Given the description of an element on the screen output the (x, y) to click on. 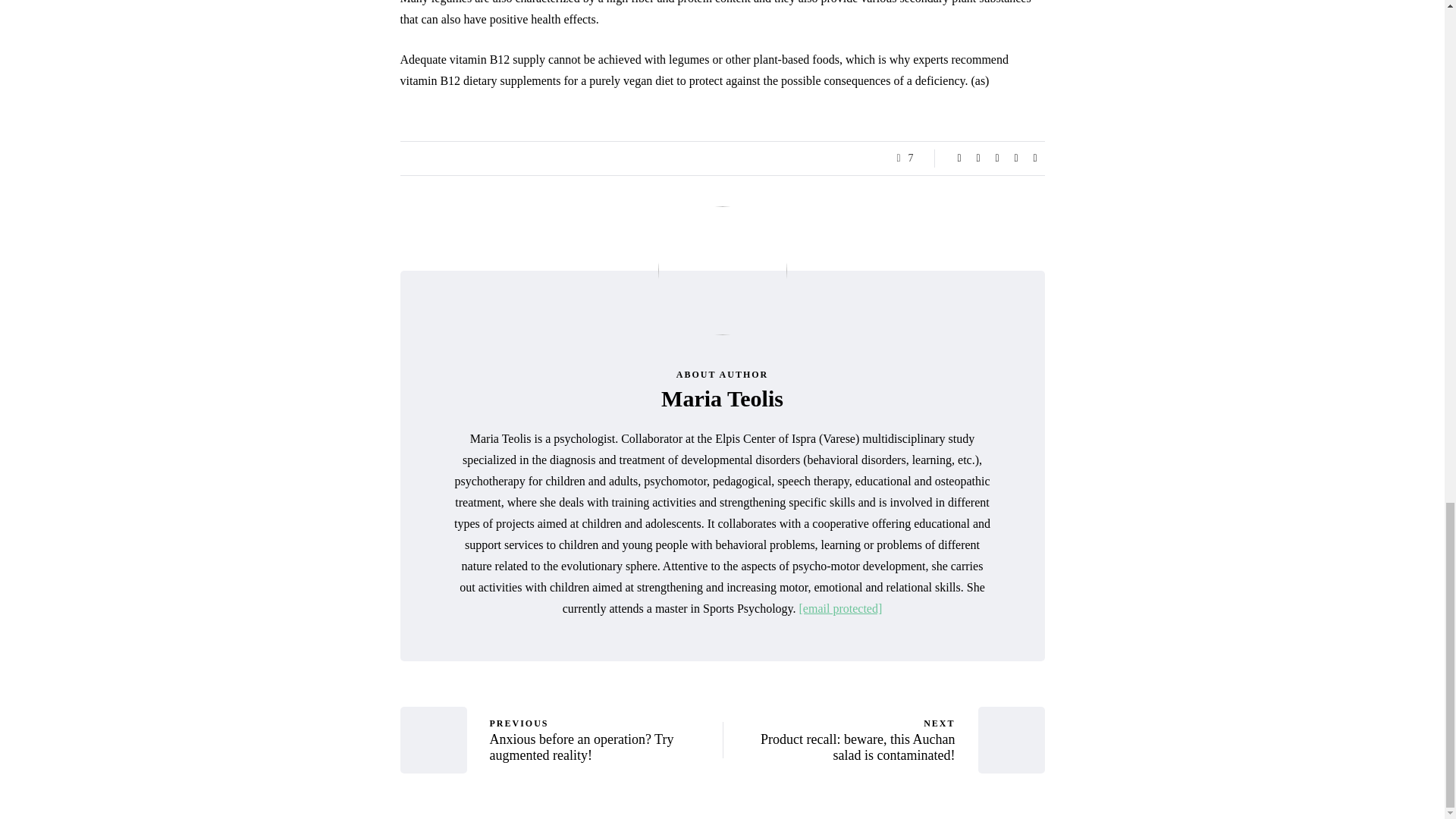
Share with LinkedIn (996, 158)
Posts by Maria Teolis (605, 739)
Share with Facebook (722, 398)
Maria Teolis (958, 158)
Share to WhatsApp (722, 398)
Tweet this (1034, 158)
Pin this (978, 158)
